Given the description of an element on the screen output the (x, y) to click on. 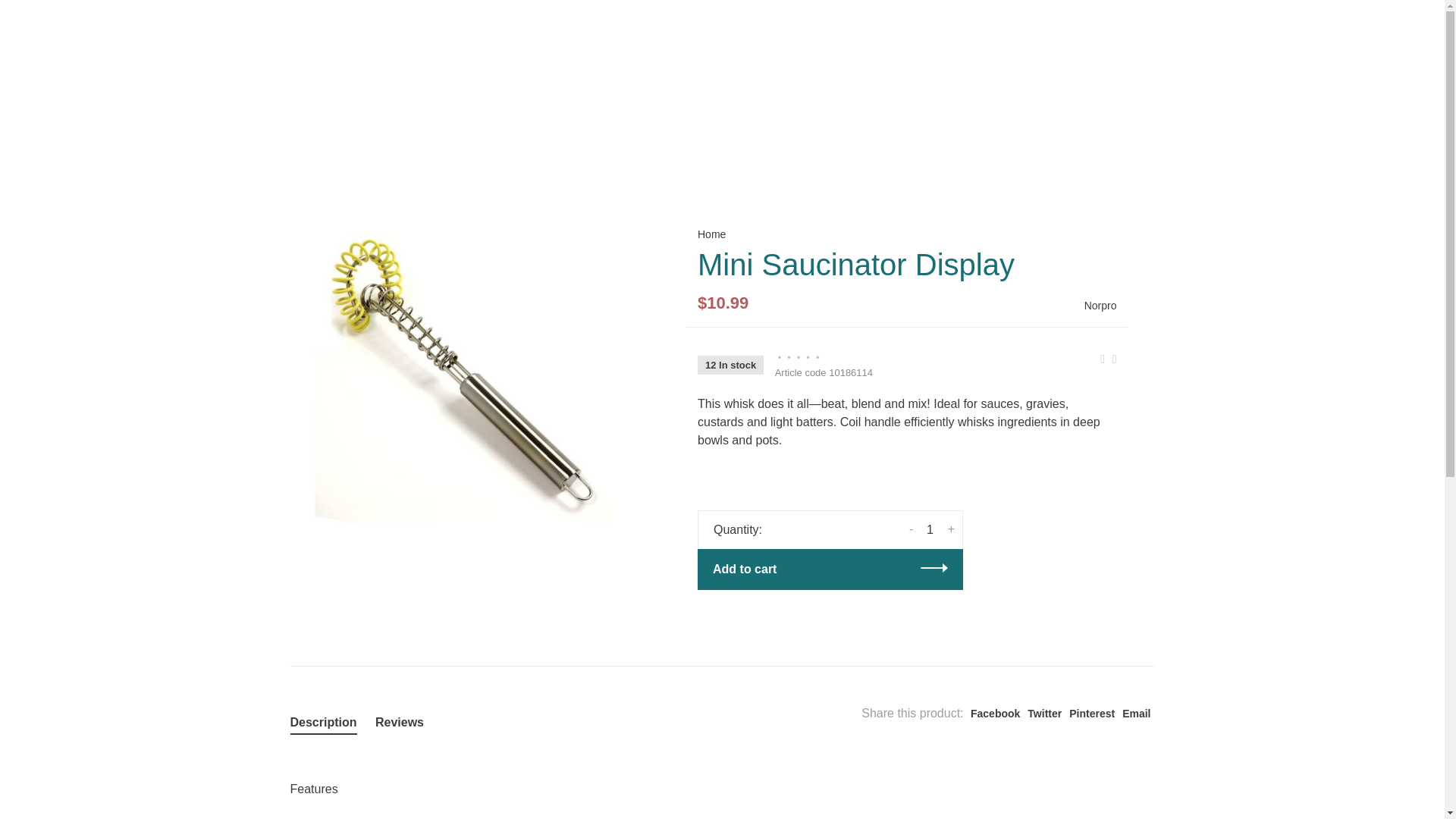
1 (929, 530)
